Given the description of an element on the screen output the (x, y) to click on. 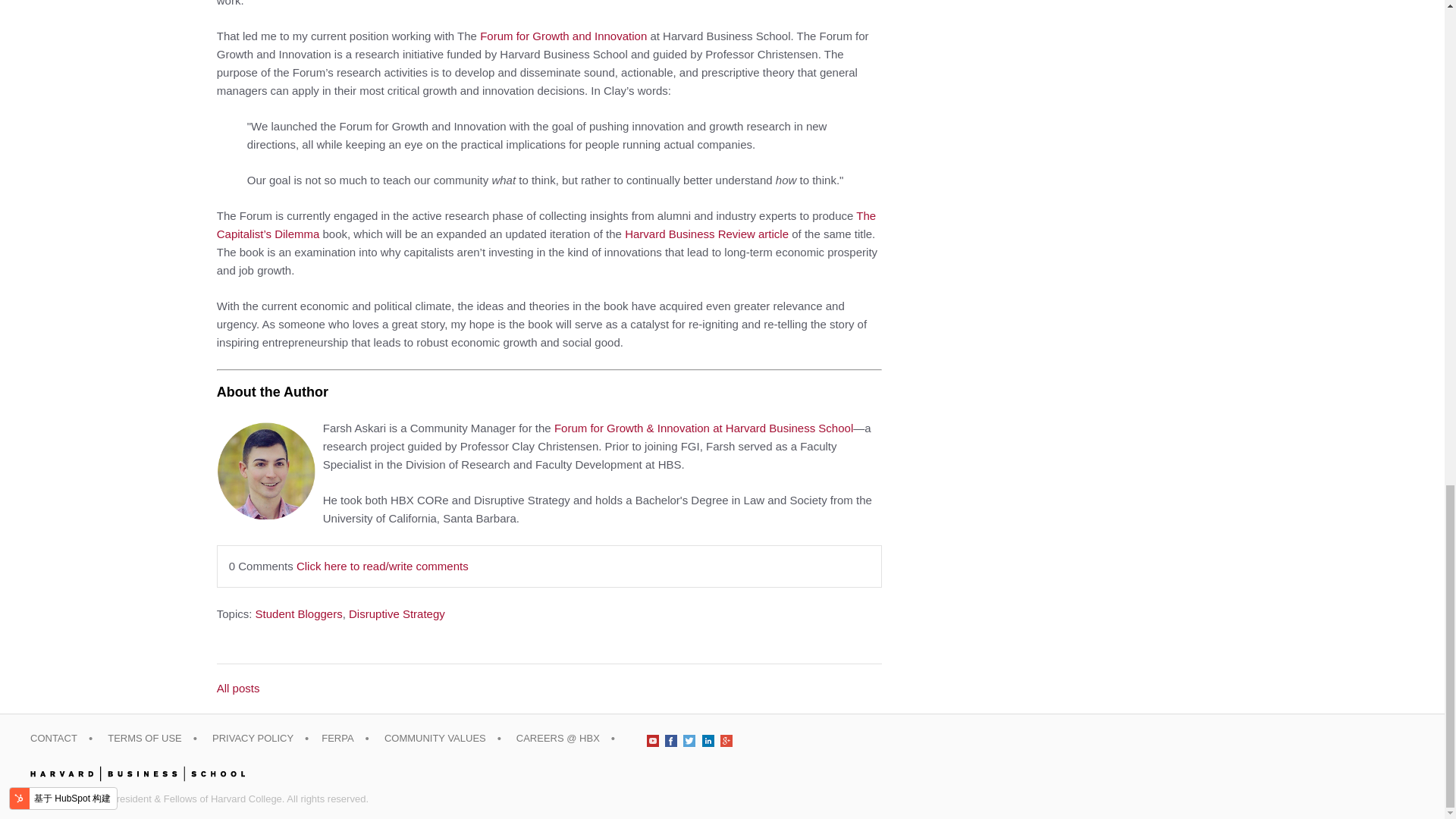
All posts (549, 688)
Farsh Askari (265, 469)
Disruptive Strategy (397, 613)
Harvard Business Review article (706, 233)
Student Bloggers (299, 613)
Forum for Growth and Innovation (563, 35)
